Given the description of an element on the screen output the (x, y) to click on. 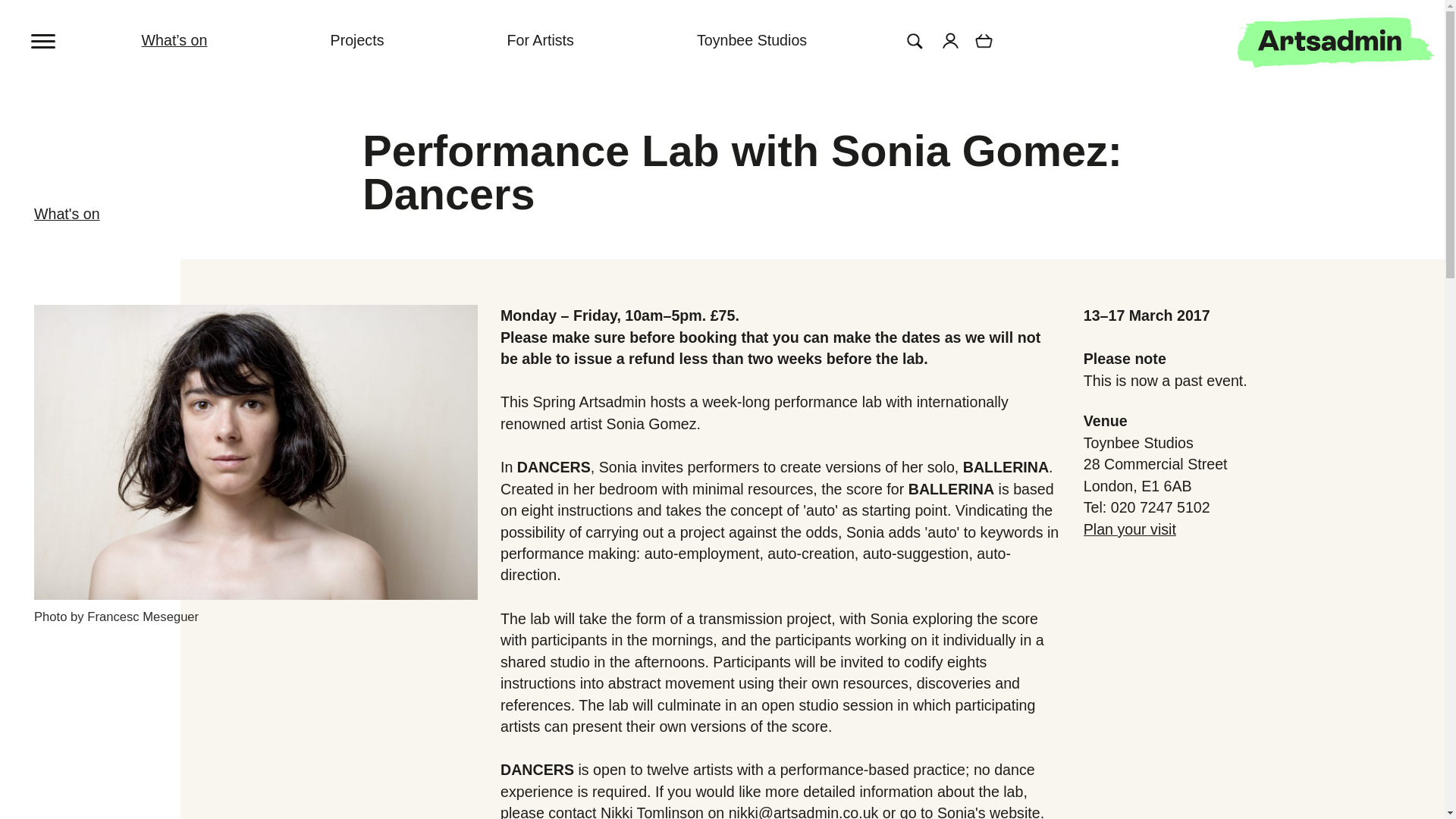
Toggle menu (44, 39)
Toggle menu (61, 30)
